Given the description of an element on the screen output the (x, y) to click on. 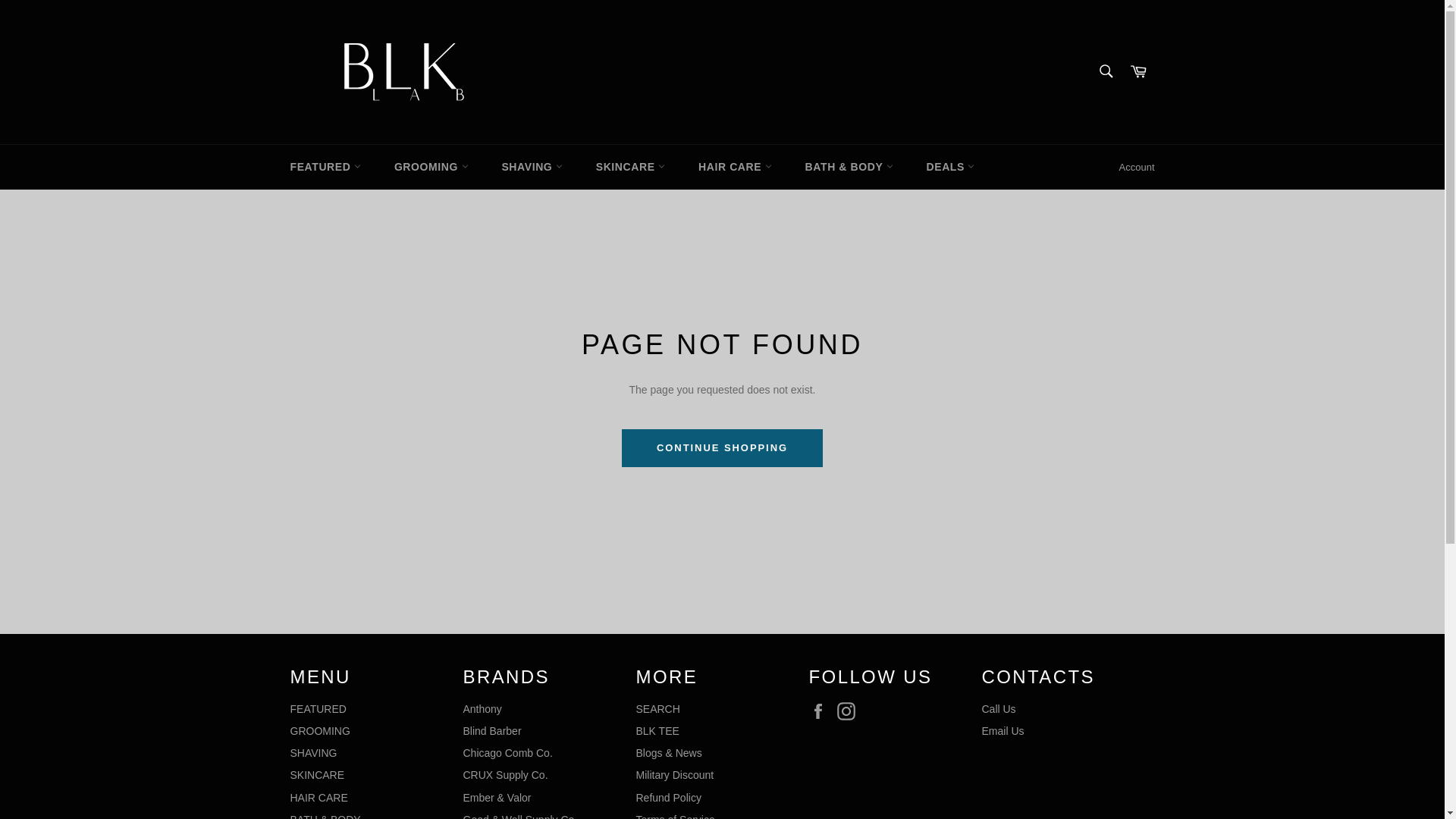
tel:702-333-8952 (997, 708)
BLK LAB on Facebook (821, 710)
BLK LAB on Instagram (850, 710)
